Given the description of an element on the screen output the (x, y) to click on. 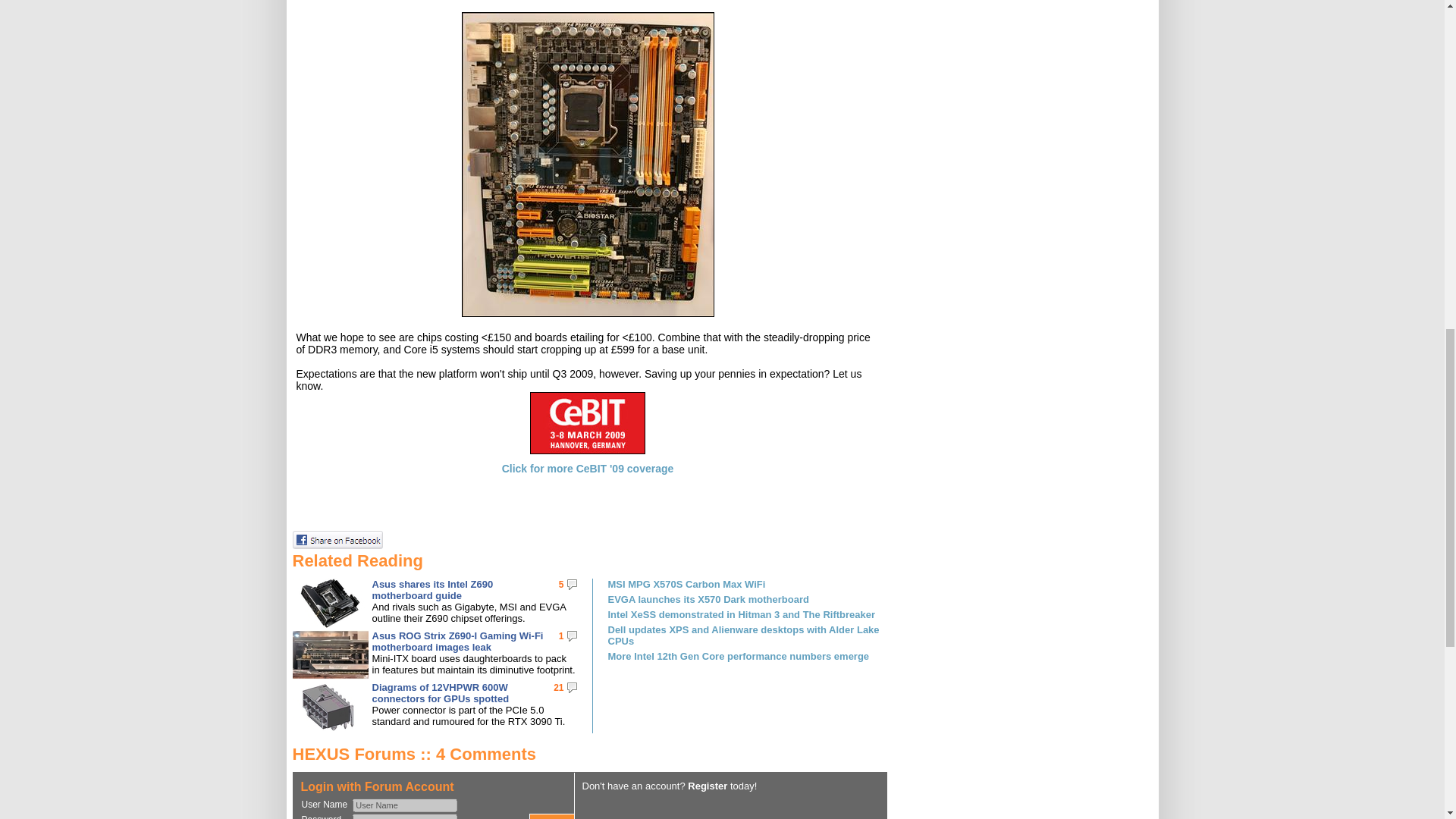
Click for more CeBIT '09 coverage (588, 468)
Log in (552, 816)
User Name (404, 805)
1 (561, 635)
Asus ROG Strix Z690-I Gaming Wi-Fi motherboard images leak (457, 640)
5 (561, 584)
Asus shares its Intel Z690 motherboard guide (432, 589)
